Given the description of an element on the screen output the (x, y) to click on. 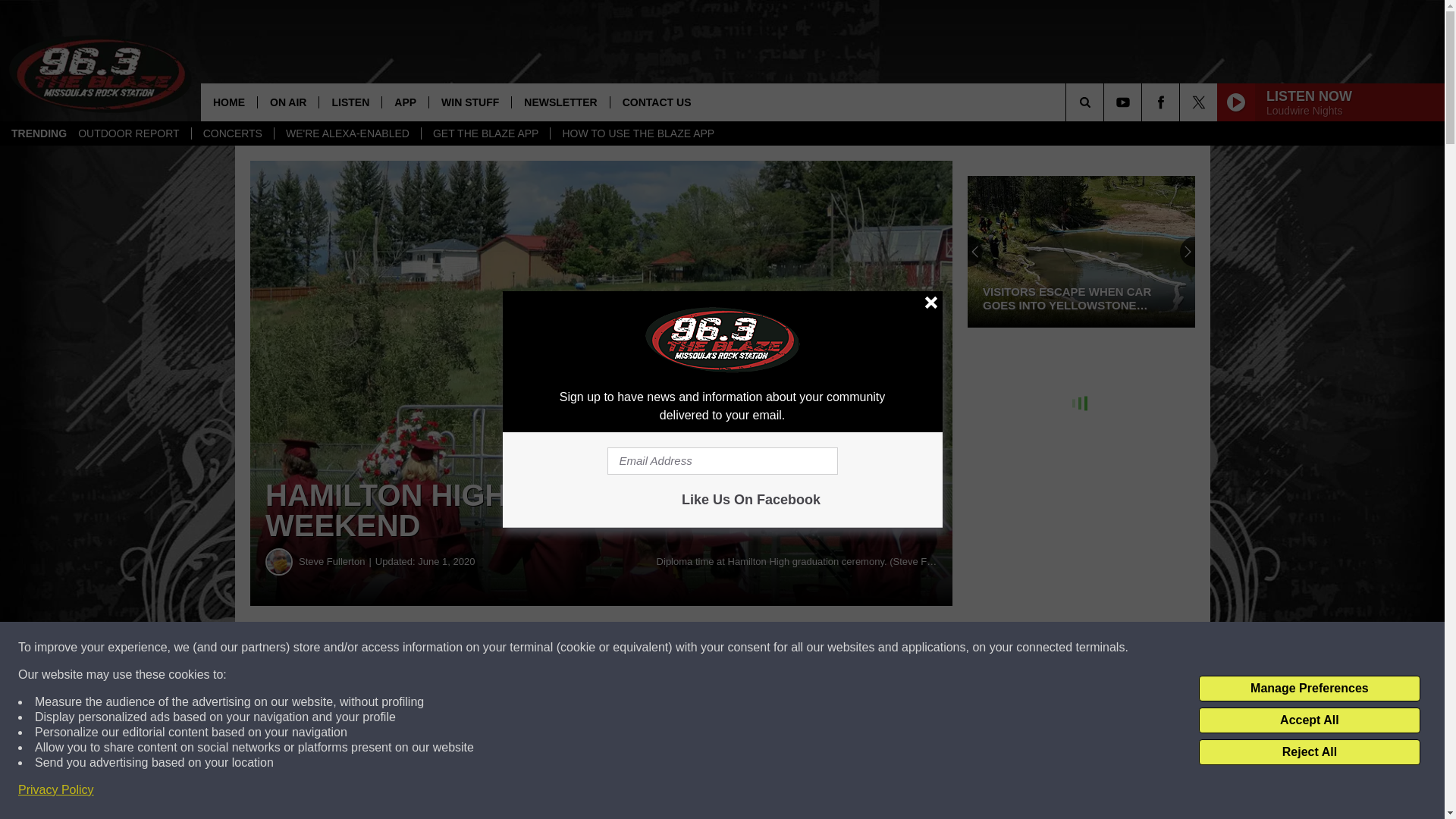
WE'RE ALEXA-ENABLED (346, 133)
Email Address (722, 461)
Reject All (1309, 751)
WIN STUFF (469, 102)
SEARCH (1106, 102)
HOME (228, 102)
LISTEN (349, 102)
HOW TO USE THE BLAZE APP (637, 133)
Accept All (1309, 720)
CONTACT US (656, 102)
GET THE BLAZE APP (485, 133)
Share on Twitter (741, 647)
APP (404, 102)
Share on Facebook (460, 647)
ON AIR (287, 102)
